Given the description of an element on the screen output the (x, y) to click on. 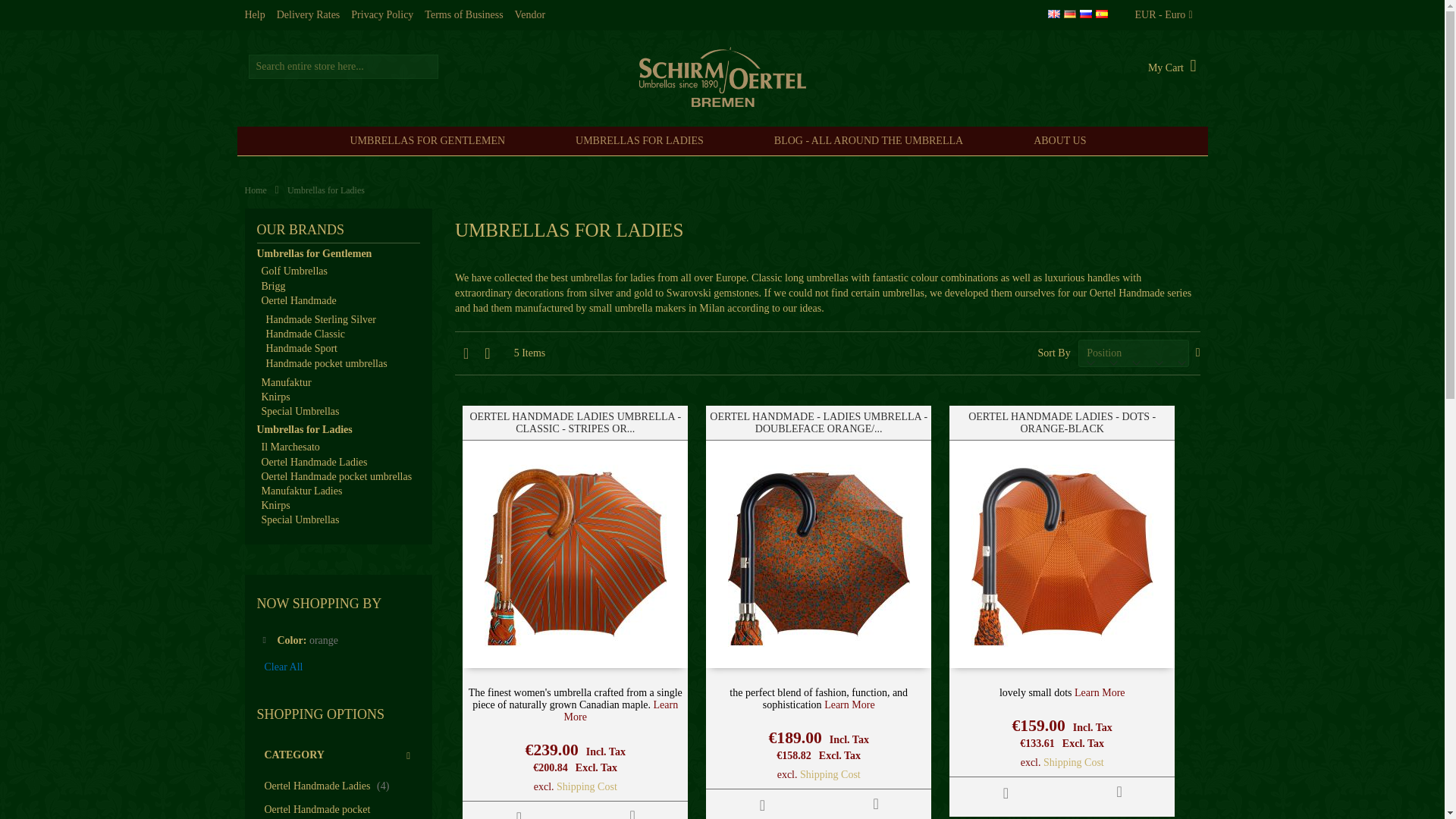
Oertel Handmade Ladies umbrella - Classic - Stripes  orange (621, 710)
Add to Cart (518, 810)
Add to Compare (631, 810)
Add to Cart (1005, 793)
Go to Home Page (255, 190)
Add to Compare (874, 803)
Terms of Business (463, 14)
Add to Compare (1118, 791)
Privacy Policy (381, 14)
Delivery Rates (308, 14)
